Given the description of an element on the screen output the (x, y) to click on. 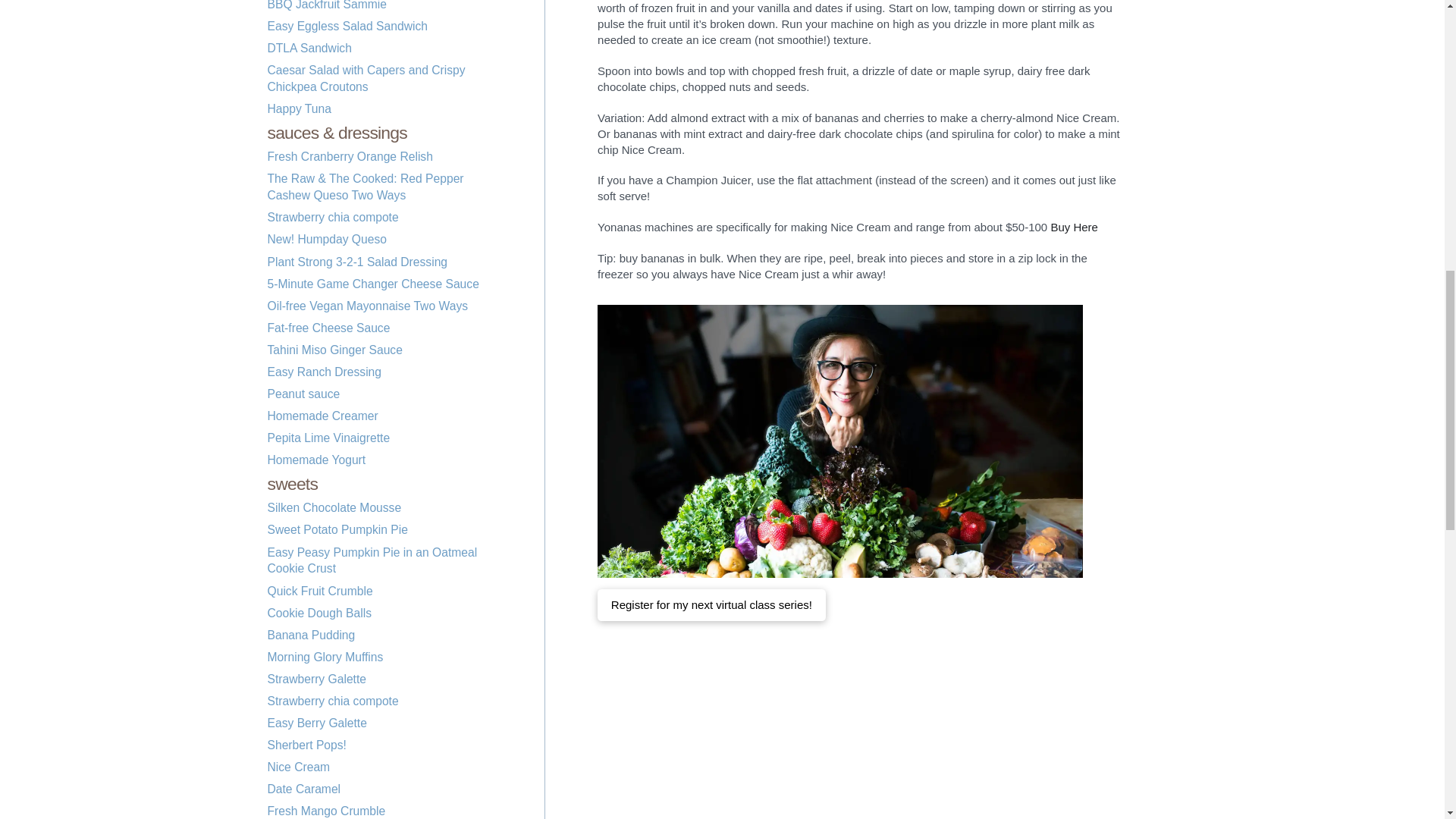
Register for my next virtual class series! (710, 604)
Buy Here (1073, 226)
Buy Here (1073, 226)
